Given the description of an element on the screen output the (x, y) to click on. 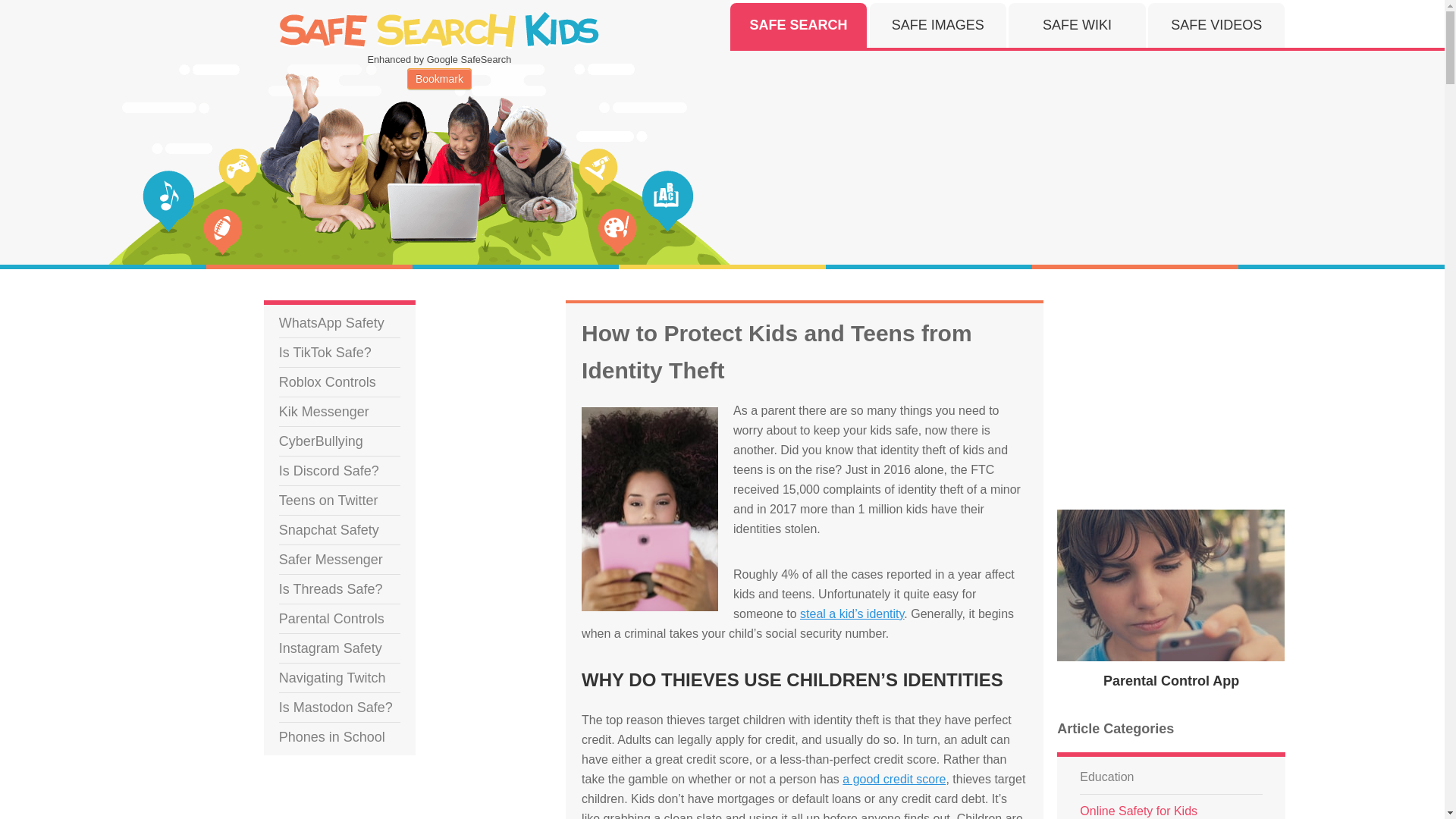
Bookmark this Page (439, 78)
Bookmark (439, 78)
Parental Control App (1171, 680)
Online Safety for Kids (1138, 806)
Education (1107, 776)
a good credit score (893, 778)
How to Protect Kids and Teens from Identity Theft (648, 415)
